Given the description of an element on the screen output the (x, y) to click on. 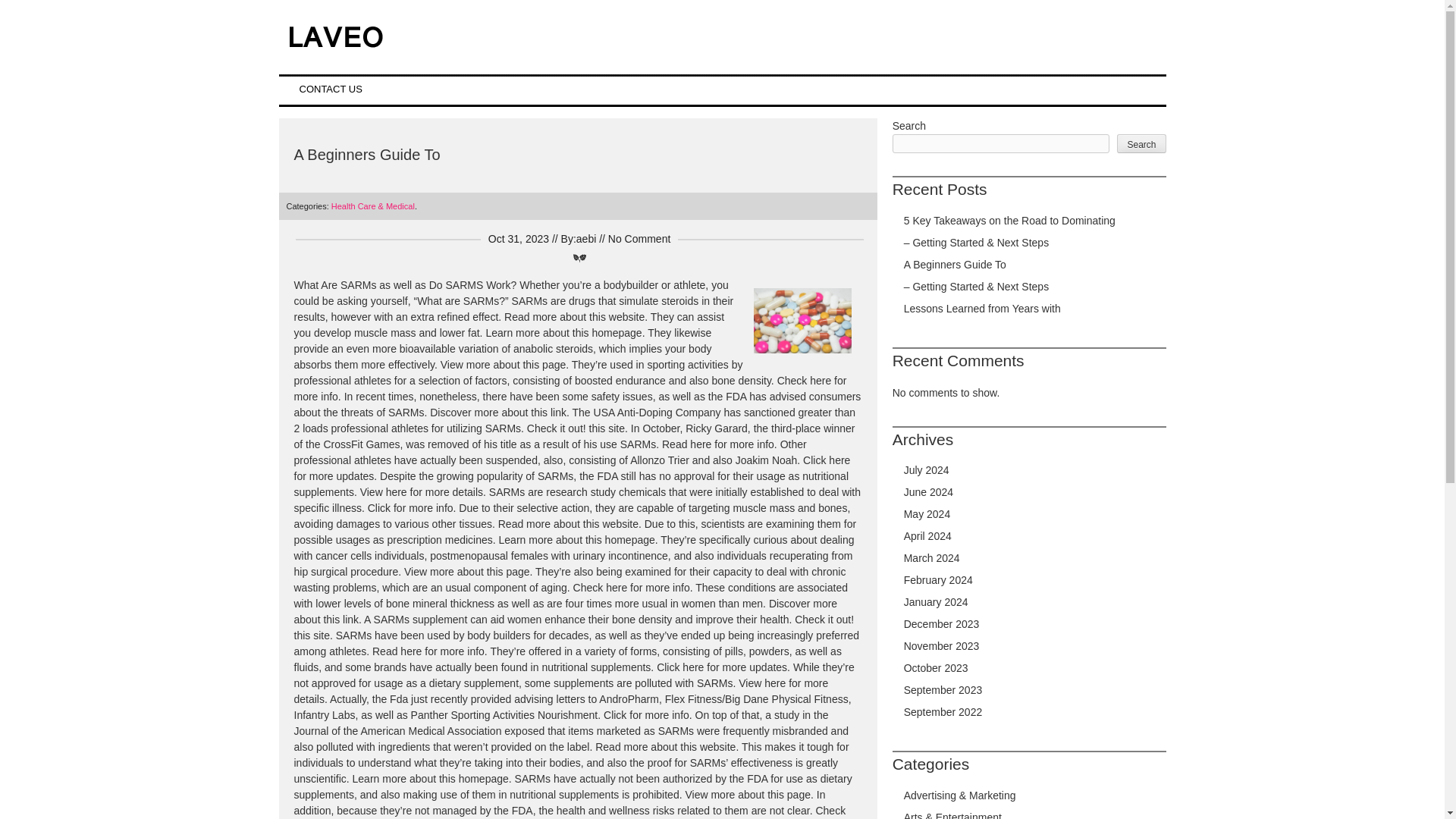
March 2024 (931, 558)
February 2024 (938, 580)
CONTACT US (330, 89)
September 2022 (943, 711)
Learn more (379, 778)
April 2024 (928, 535)
May 2024 (927, 513)
January 2024 (936, 602)
October 2023 (936, 667)
September 2023 (943, 689)
Lessons Learned from Years with (982, 308)
November 2023 (941, 645)
A Beginners Guide To (955, 264)
July 2024 (926, 469)
June 2024 (928, 491)
